Given the description of an element on the screen output the (x, y) to click on. 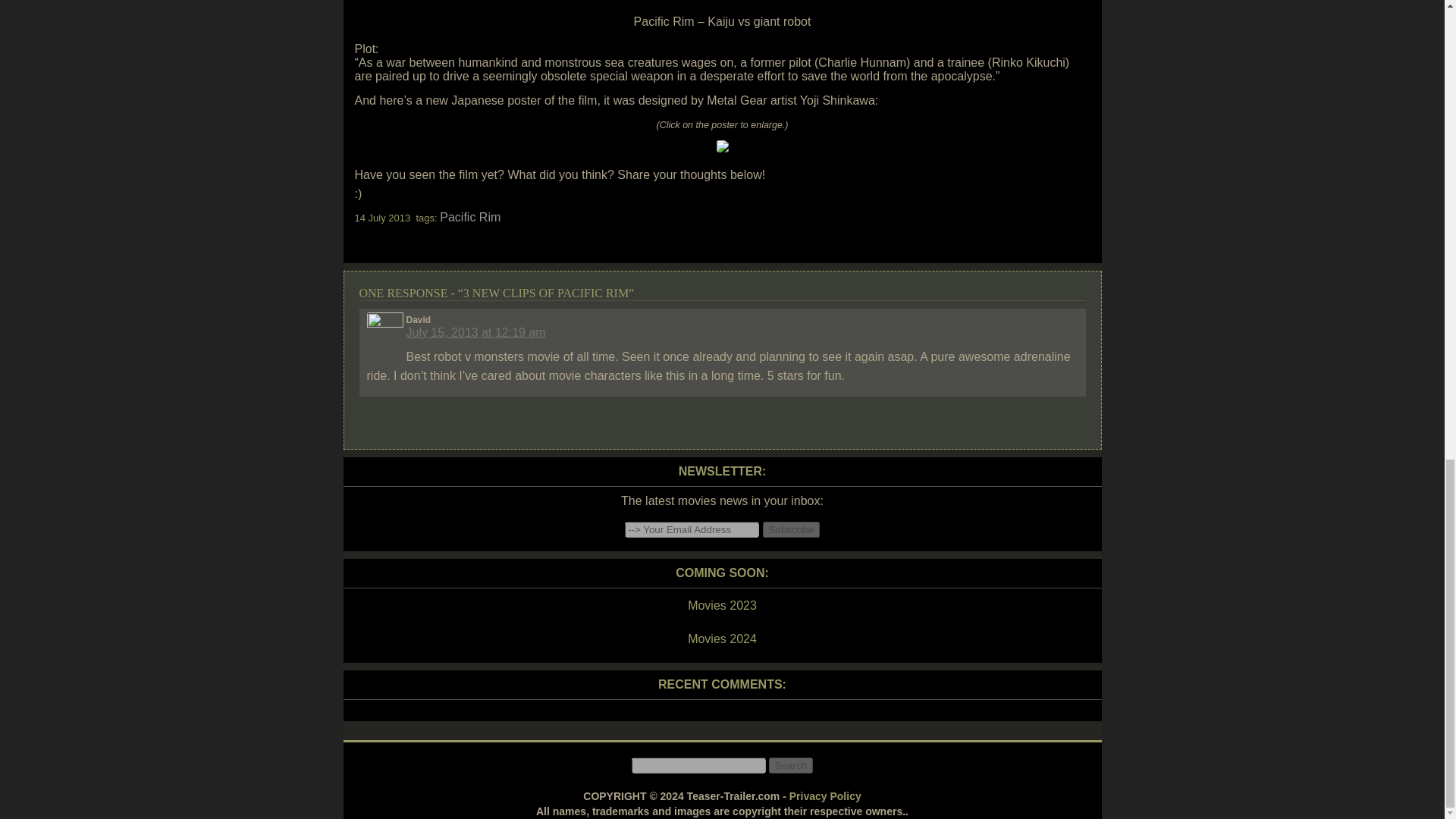
Subscribe (790, 529)
Pacific Rim (469, 216)
Subscribe (790, 529)
Search (790, 765)
Privacy Policy (825, 796)
Movies 2023 (721, 605)
Movies 2024 (721, 639)
July 15, 2013 at 12:19 am (476, 332)
Search (790, 765)
